Given the description of an element on the screen output the (x, y) to click on. 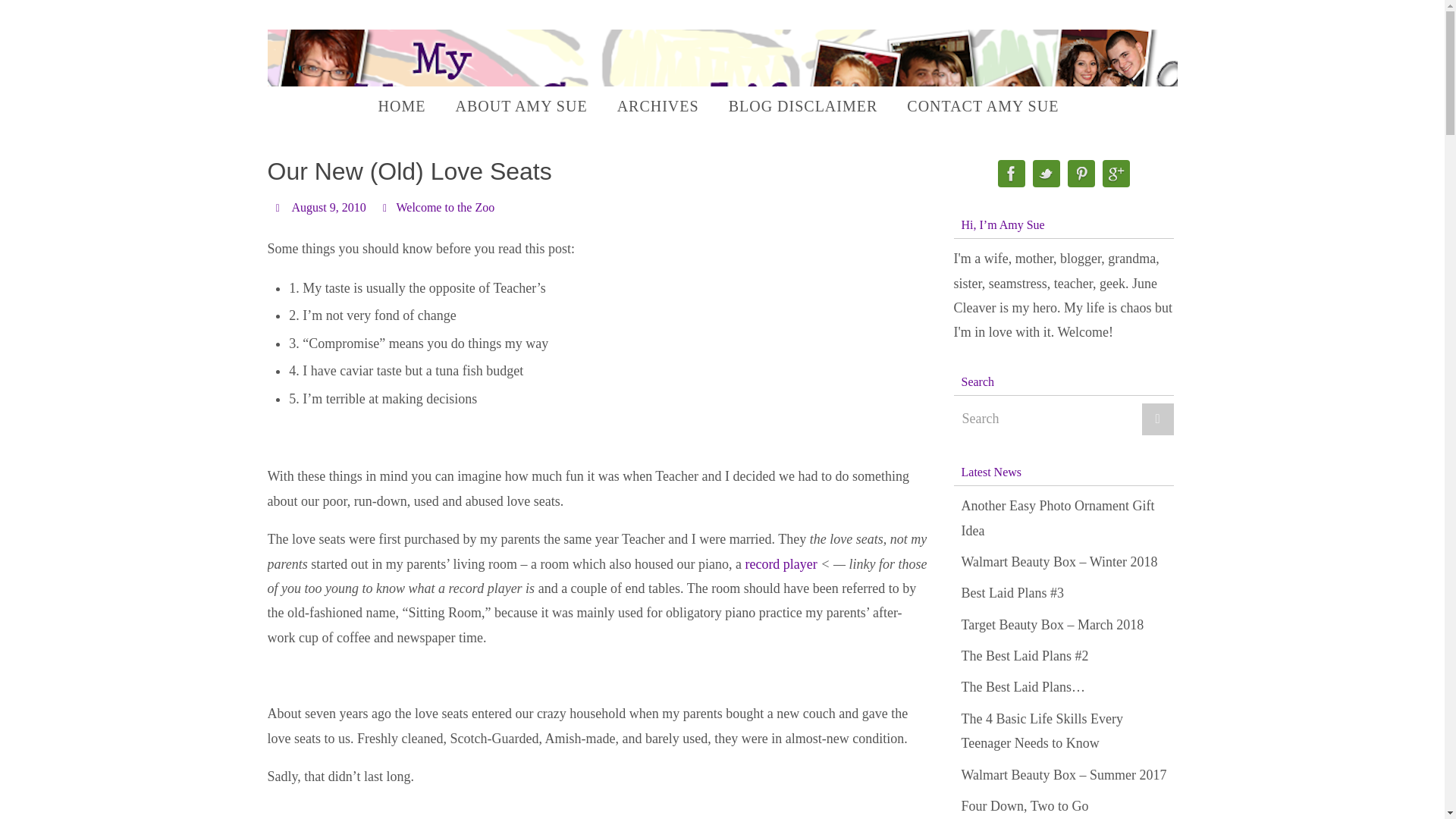
Another Easy Photo Ornament Gift Idea (1057, 517)
Welcome to the Zoo (445, 207)
ARCHIVES (658, 106)
ABOUT AMY SUE (520, 106)
The 4 Basic Life Skills Every Teenager Needs to Know (1041, 731)
August 9, 2010 (328, 207)
CONTACT AMY SUE (982, 106)
Facebook (1011, 173)
Date (278, 206)
Categories (386, 206)
Twitter (1045, 173)
Search (1063, 418)
Pinterest (1080, 173)
BLOG DISCLAIMER (802, 106)
record player (780, 563)
